Given the description of an element on the screen output the (x, y) to click on. 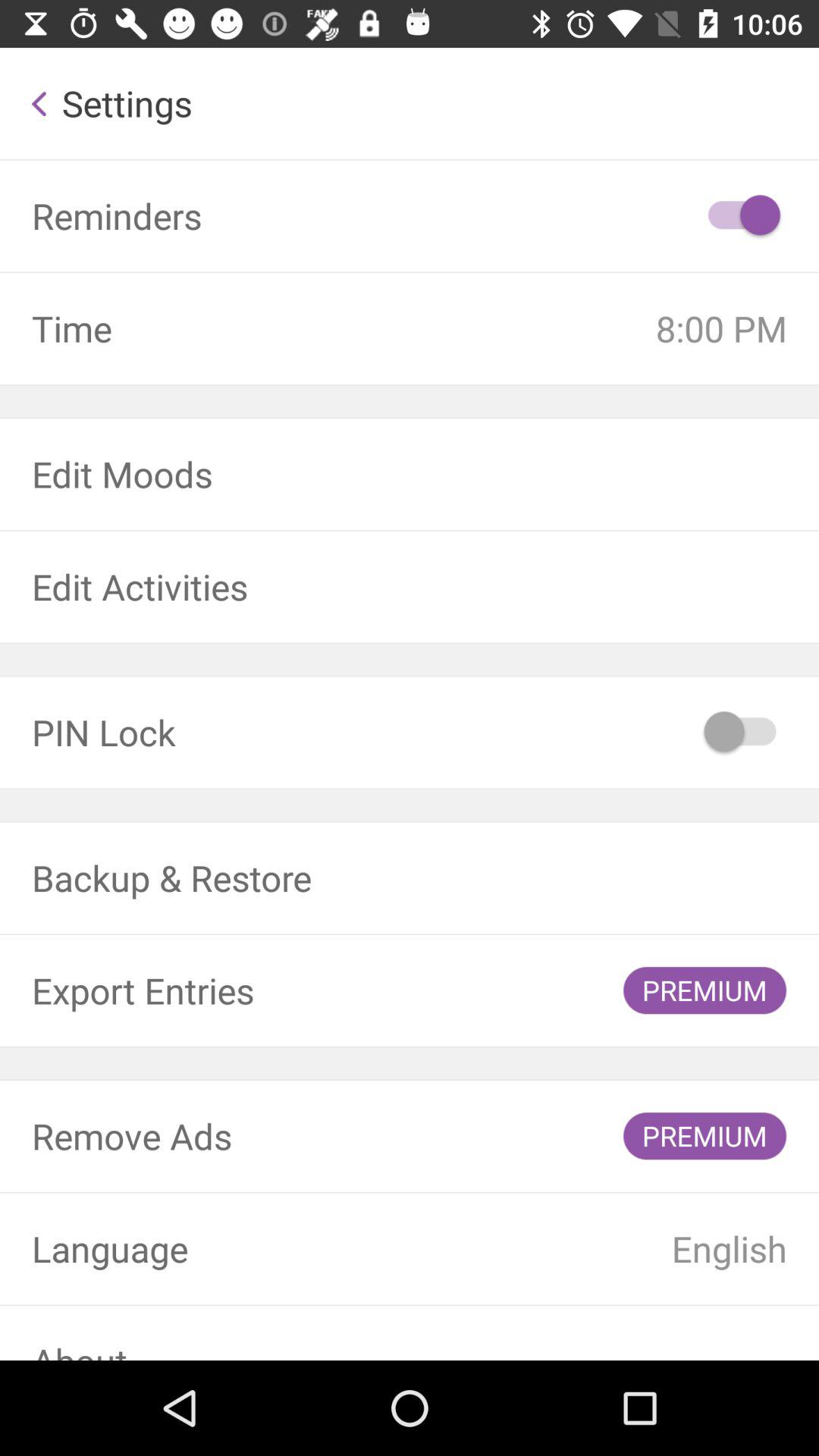
toggle reminders (742, 216)
